Given the description of an element on the screen output the (x, y) to click on. 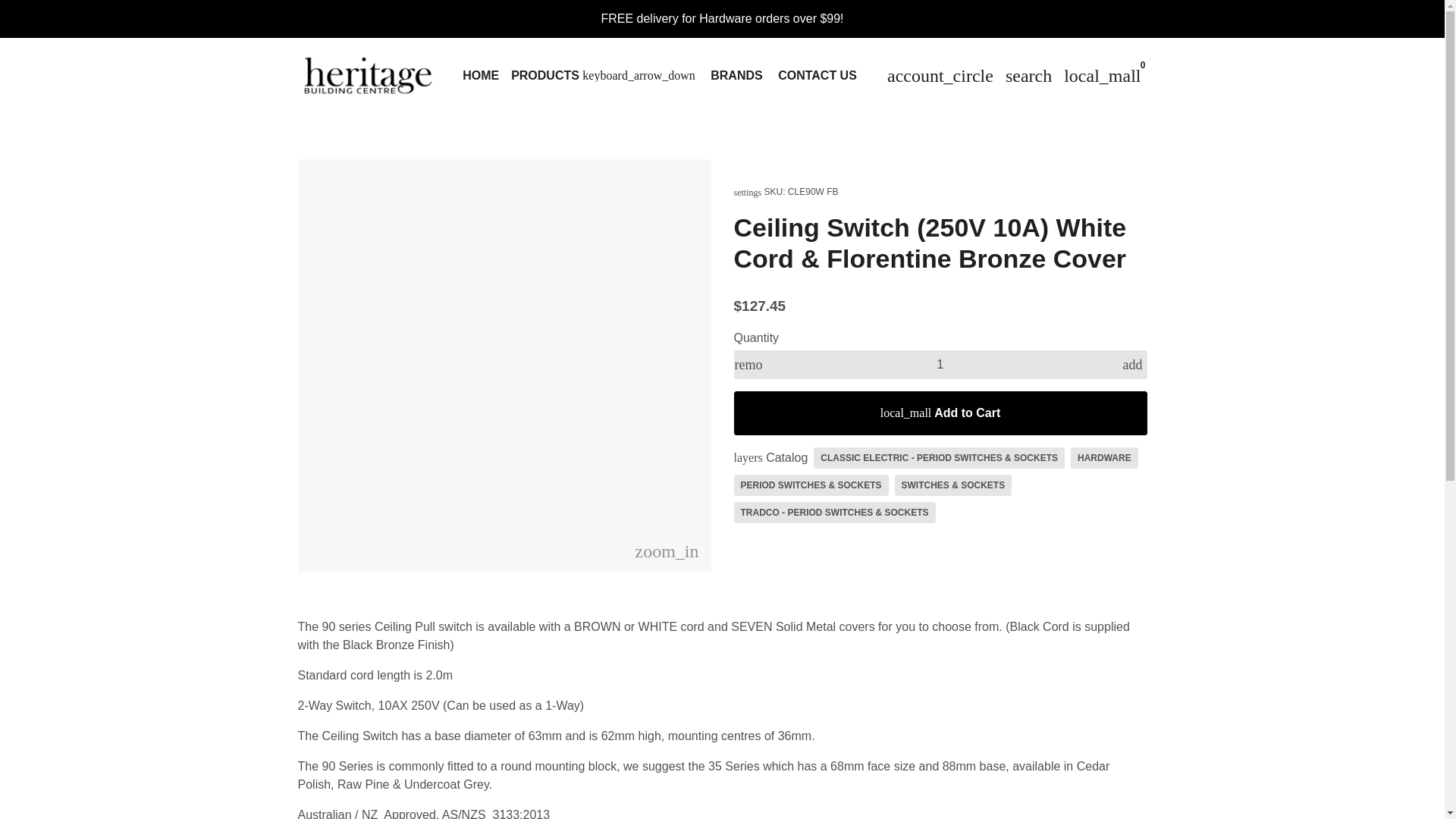
Cart (1102, 75)
Reduce item quantity by one (747, 364)
1 (940, 364)
Log In (939, 75)
Shipping Policy (721, 18)
Search (1028, 75)
